Given the description of an element on the screen output the (x, y) to click on. 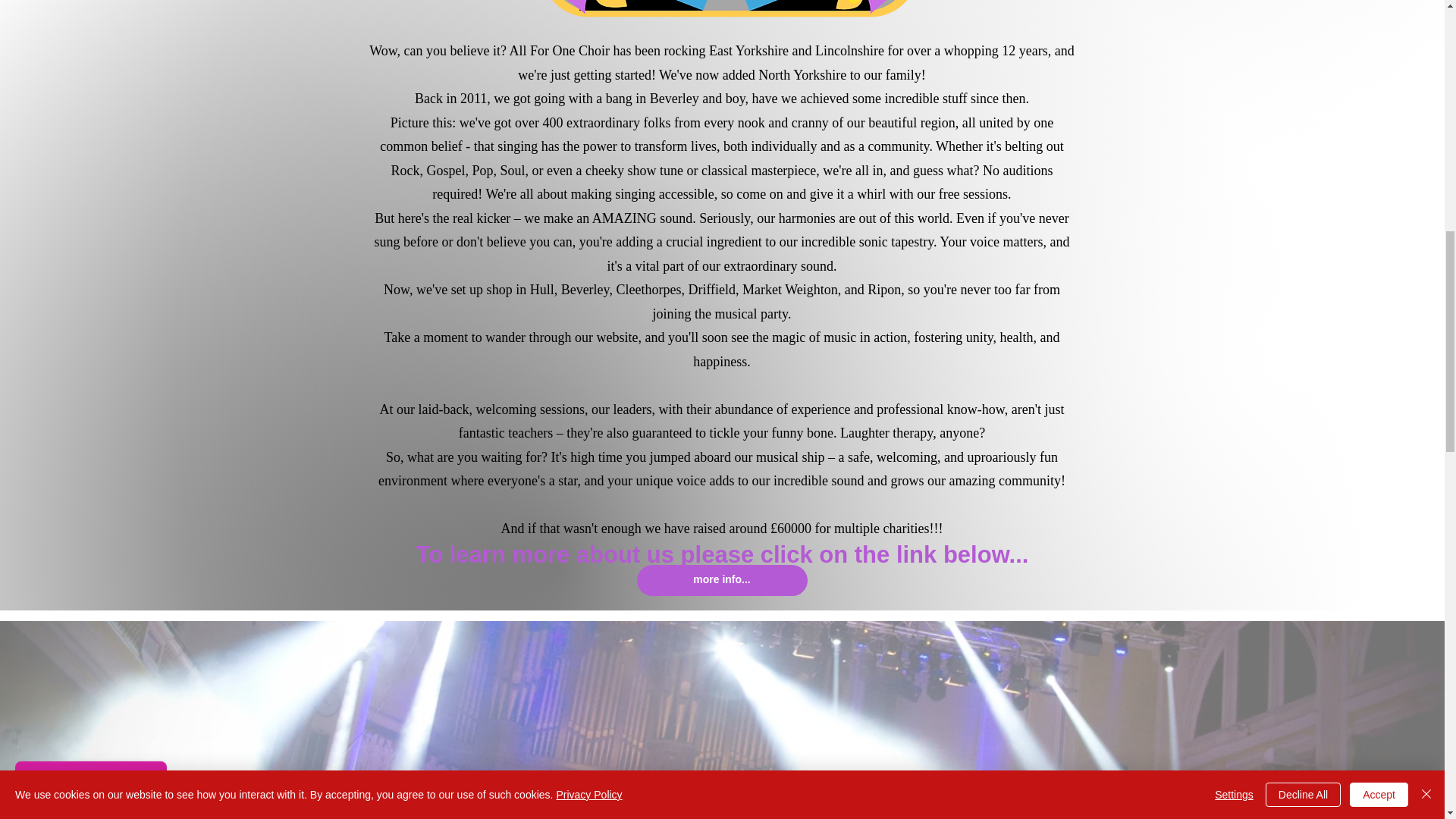
A logo to explain why its amazing to join a choir (727, 21)
more info... (722, 579)
